Given the description of an element on the screen output the (x, y) to click on. 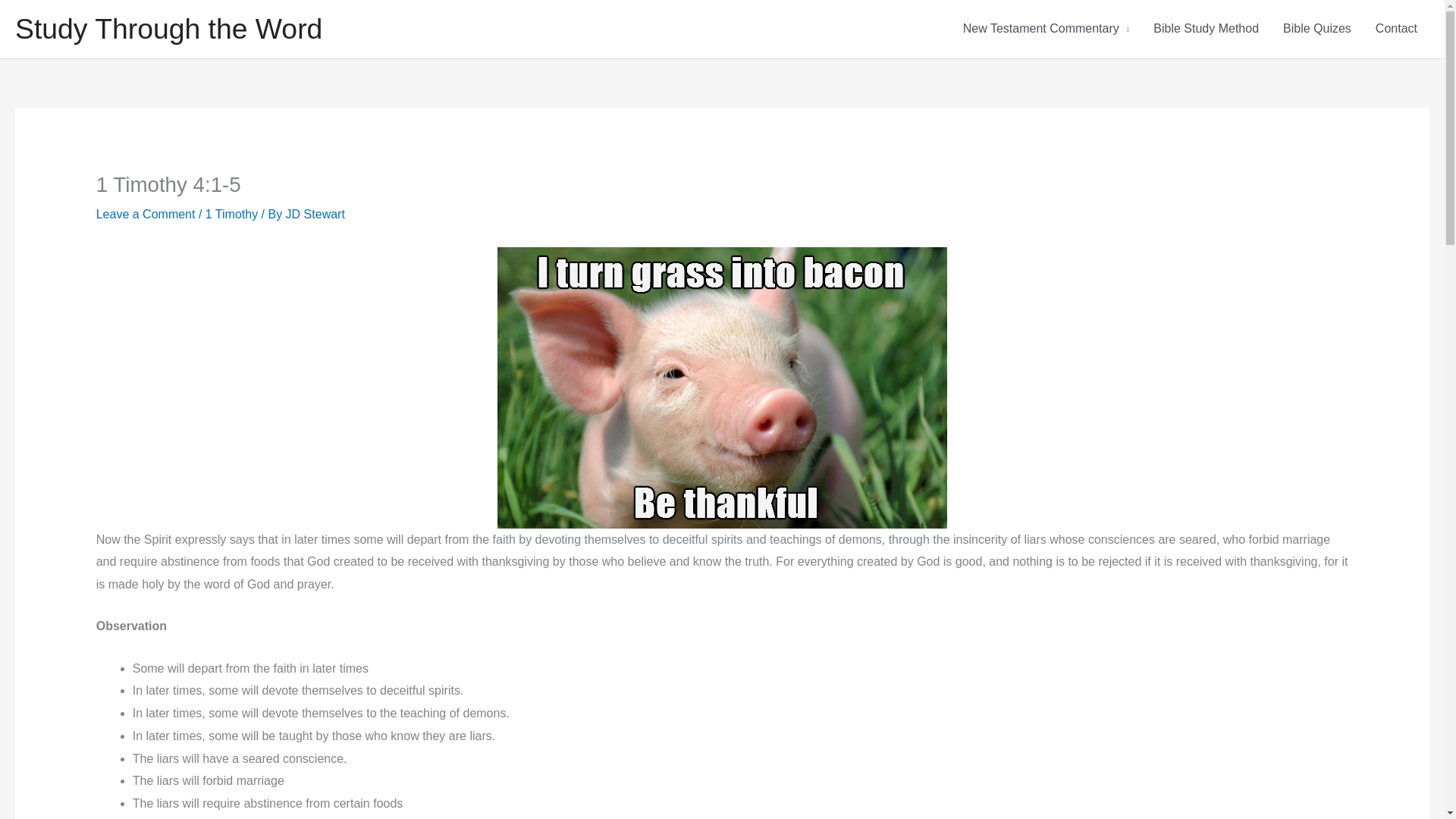
Contact (1395, 28)
1 Timothy (231, 214)
Bible Quizes (1316, 28)
Bible Study Method (1206, 28)
JD Stewart (315, 214)
View all posts by JD Stewart (315, 214)
Study Through the Word (167, 29)
Leave a Comment (145, 214)
New Testament Commentary (1045, 28)
